Given the description of an element on the screen output the (x, y) to click on. 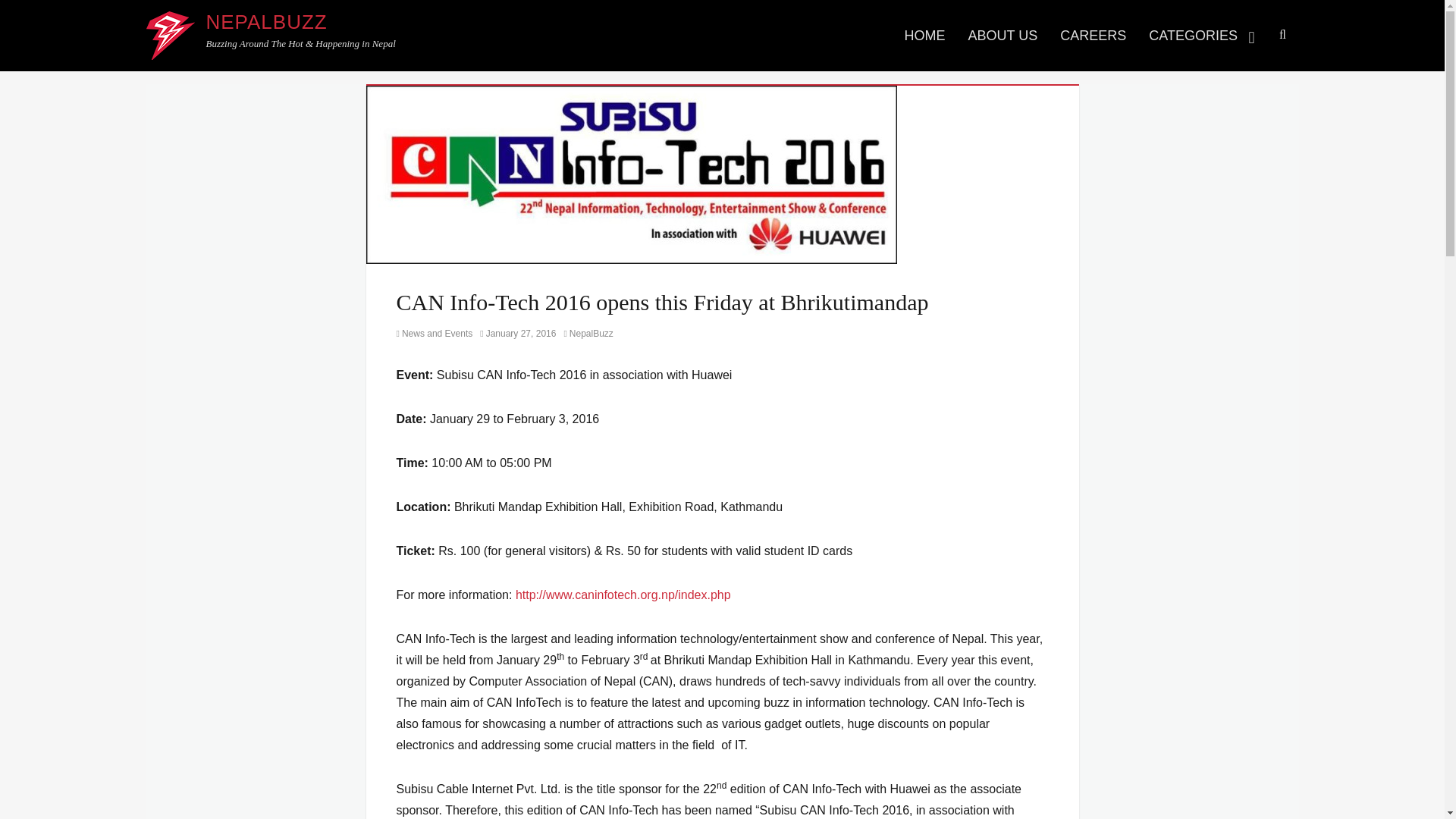
NEPALBUZZ (266, 21)
ABOUT US (1002, 35)
NepalBuzz (587, 333)
CAREERS (1092, 35)
News and Events (433, 333)
HOME (924, 35)
CATEGORIES (1202, 35)
January 27, 2016 (518, 333)
